Given the description of an element on the screen output the (x, y) to click on. 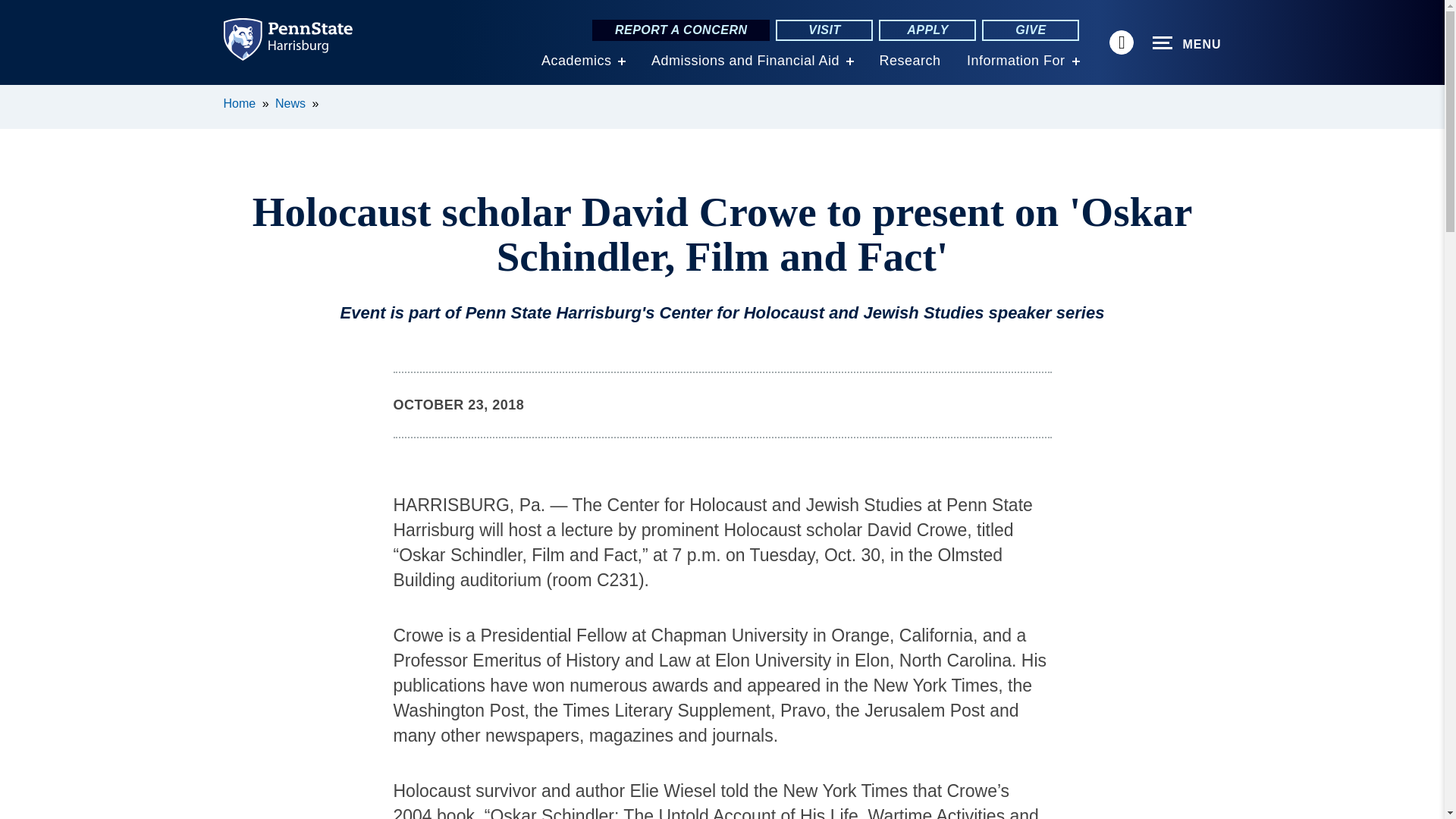
GIVE (1029, 29)
VISIT (824, 29)
Research (909, 60)
Academics (576, 60)
APPLY (927, 29)
SKIP TO MAIN CONTENT (19, 95)
Admissions and Financial Aid (745, 60)
REPORT A CONCERN (681, 29)
MENU (1187, 43)
Information For (1015, 60)
